Given the description of an element on the screen output the (x, y) to click on. 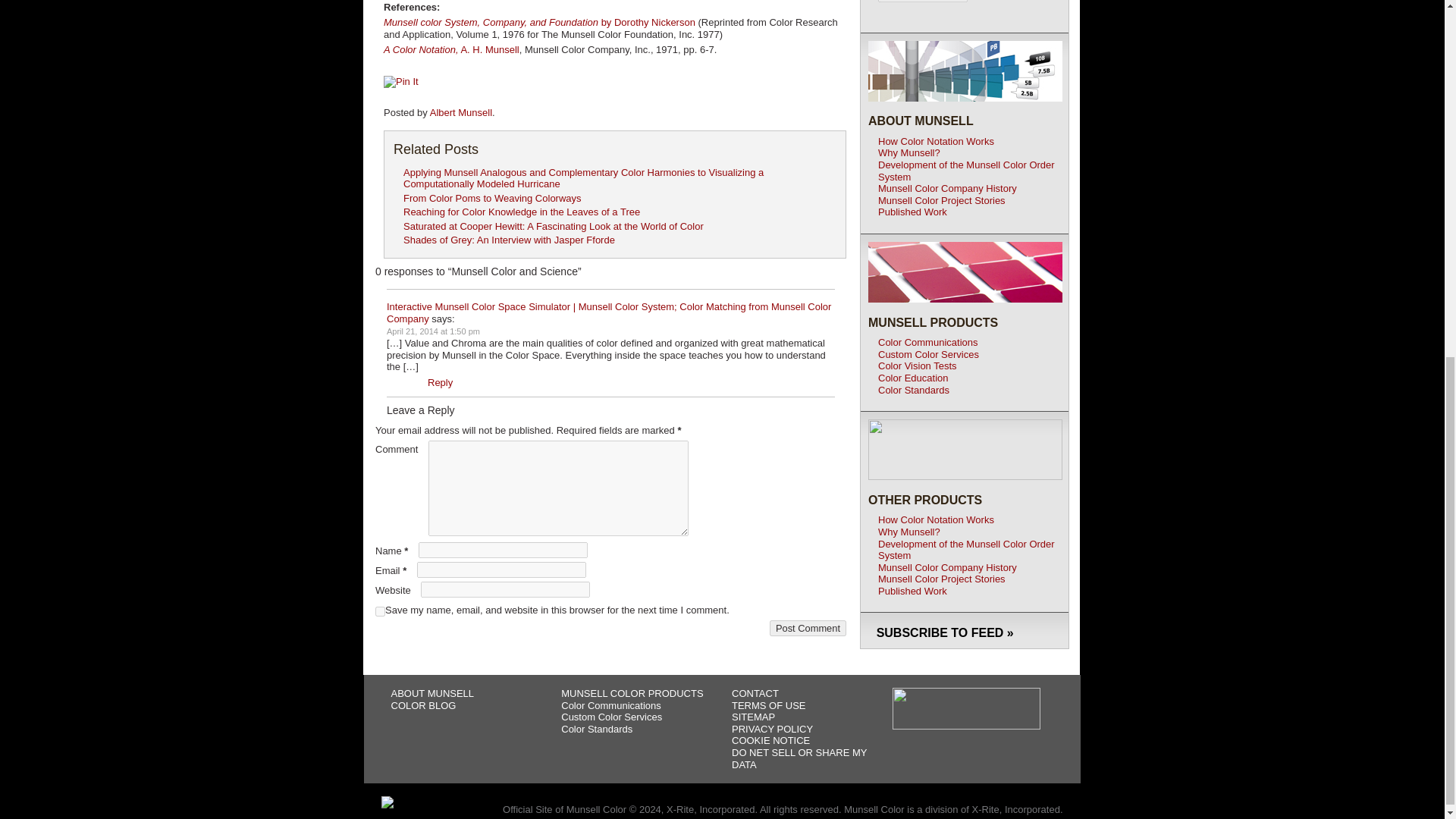
Pin It (401, 81)
Shades of Grey: An Interview with Jasper Fforde (508, 239)
Reaching for Color Knowledge in the Leaves of a Tree (521, 211)
Posts by Albert Munsell (460, 112)
Reply (440, 382)
Shades of Grey: An Interview with Jasper Fforde (508, 239)
From Color Poms to Weaving Colorways (491, 197)
